Given the description of an element on the screen output the (x, y) to click on. 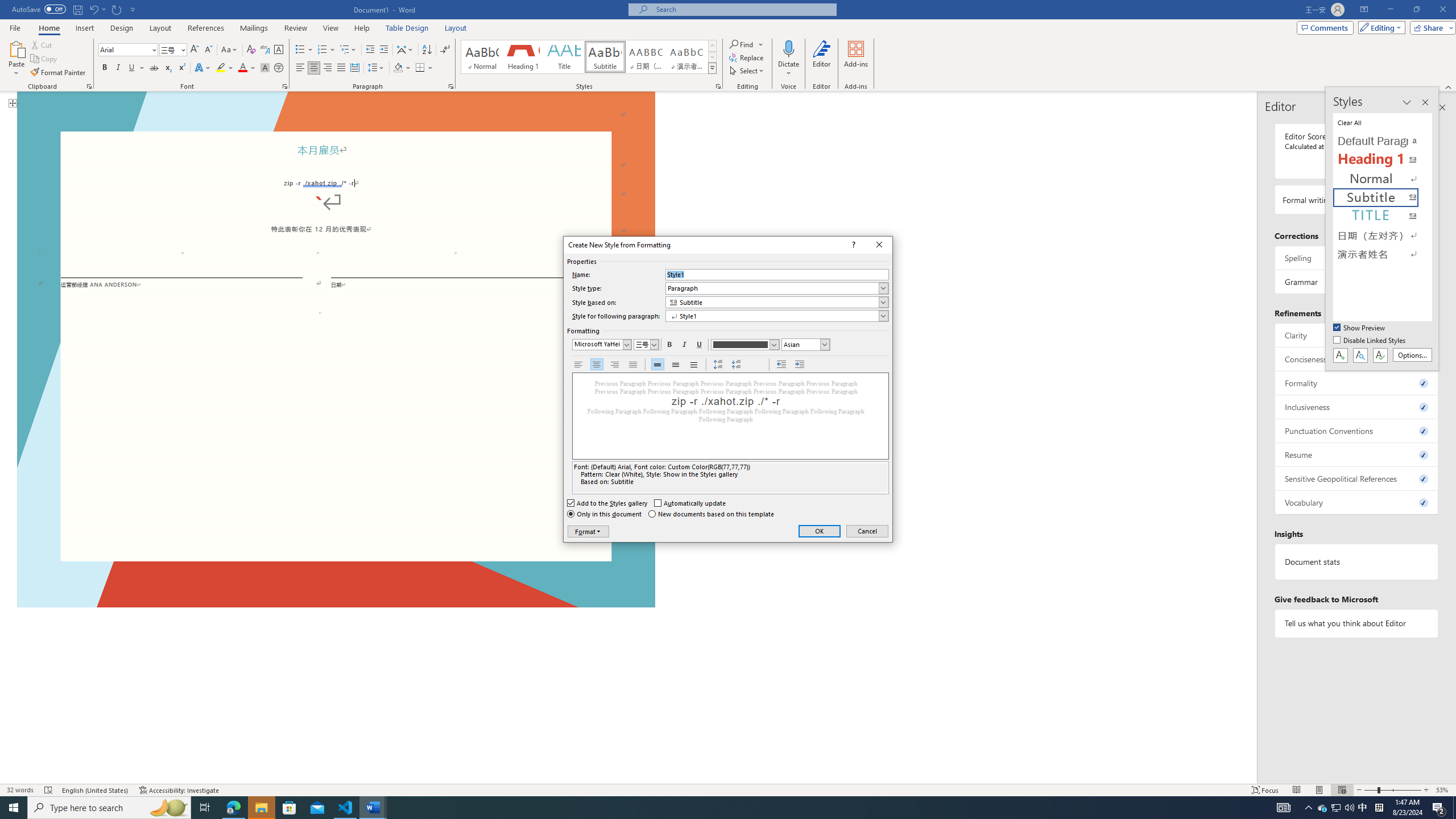
Document statistics (1356, 561)
Style properties: (730, 477)
Word Count 32 words (19, 790)
Disable Linked Styles (1370, 340)
Task View (204, 807)
Formatting script (805, 344)
Editing (1379, 27)
